Given the description of an element on the screen output the (x, y) to click on. 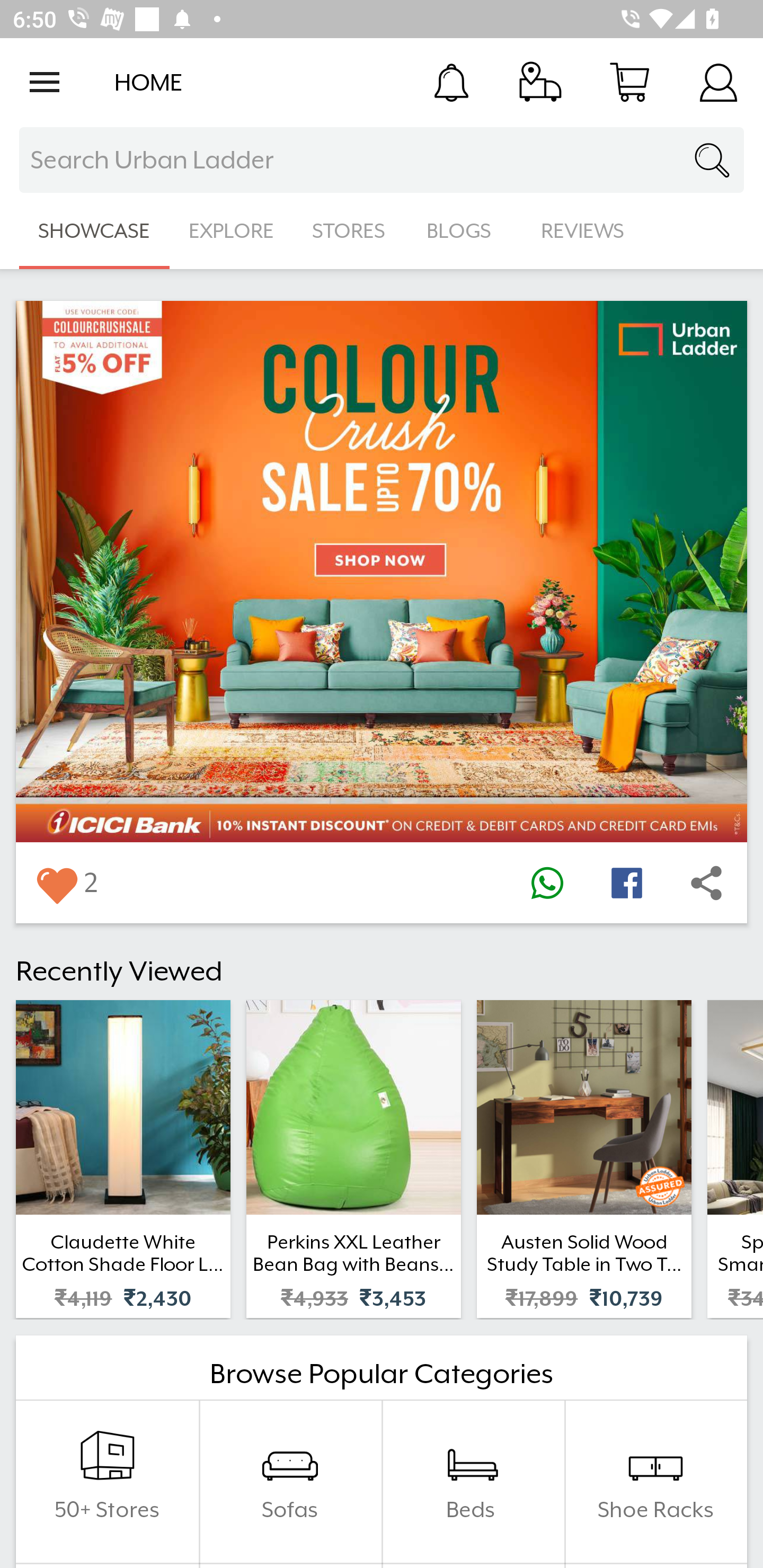
Open navigation drawer (44, 82)
Notification (450, 81)
Track Order (540, 81)
Cart (629, 81)
Account Details (718, 81)
Search Urban Ladder  (381, 159)
SHOWCASE (94, 230)
EXPLORE (230, 230)
STORES (349, 230)
BLOGS (464, 230)
REVIEWS (582, 230)
 (55, 882)
 (547, 882)
 (626, 882)
 (706, 882)
50+ Stores (106, 1481)
Sofas (289, 1481)
Beds  (473, 1481)
Shoe Racks (655, 1481)
